Given the description of an element on the screen output the (x, y) to click on. 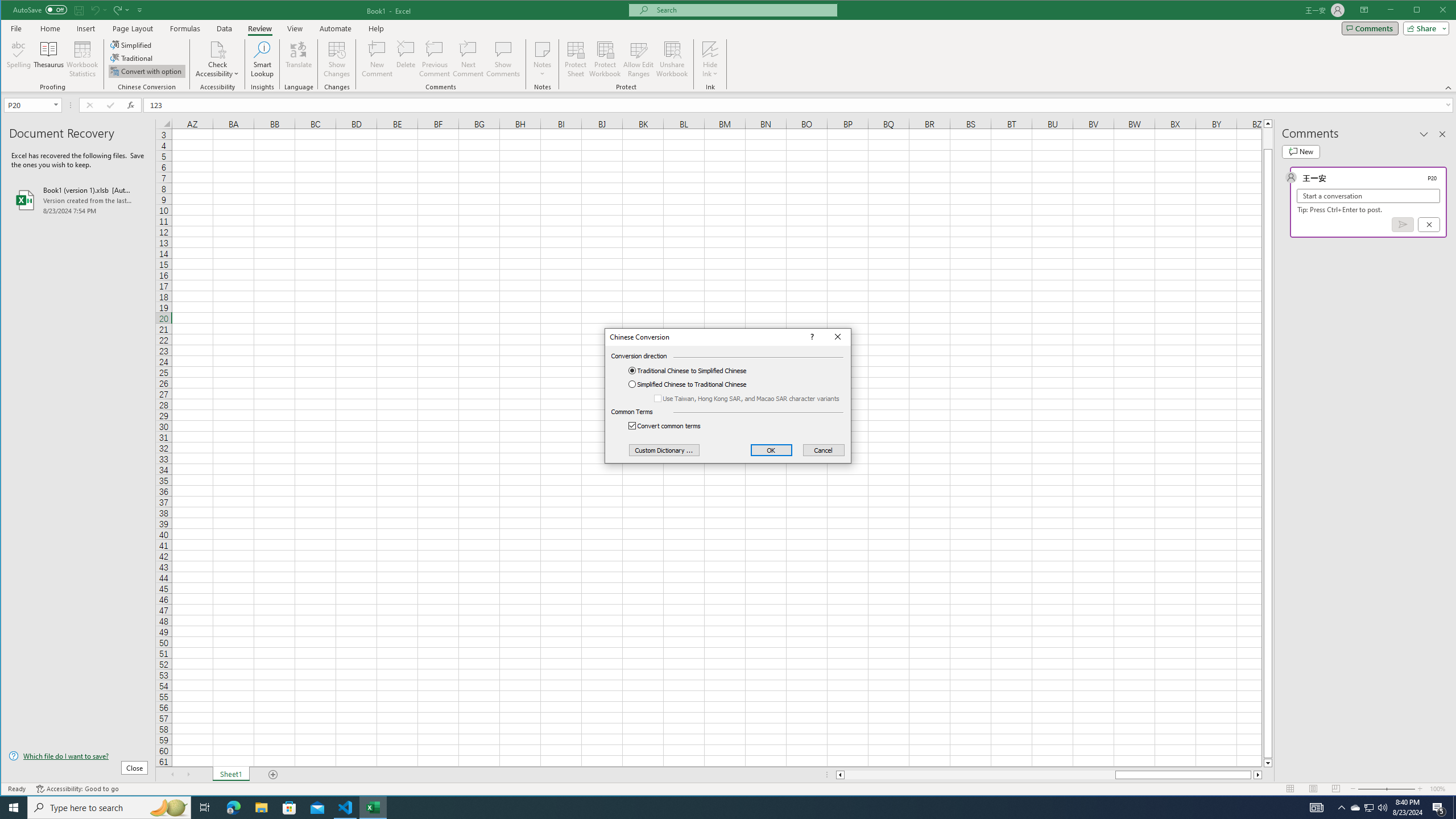
Thesaurus... (48, 59)
Microsoft search (742, 10)
Microsoft Edge (233, 807)
Maximize (1432, 11)
Unshare Workbook (671, 59)
Use Taiwan, Hong Kong SAR, and Macao SAR character variants (748, 397)
Hide Ink (710, 59)
Which file do I want to save? (78, 755)
AutomationID: 4105 (1316, 807)
